Given the description of an element on the screen output the (x, y) to click on. 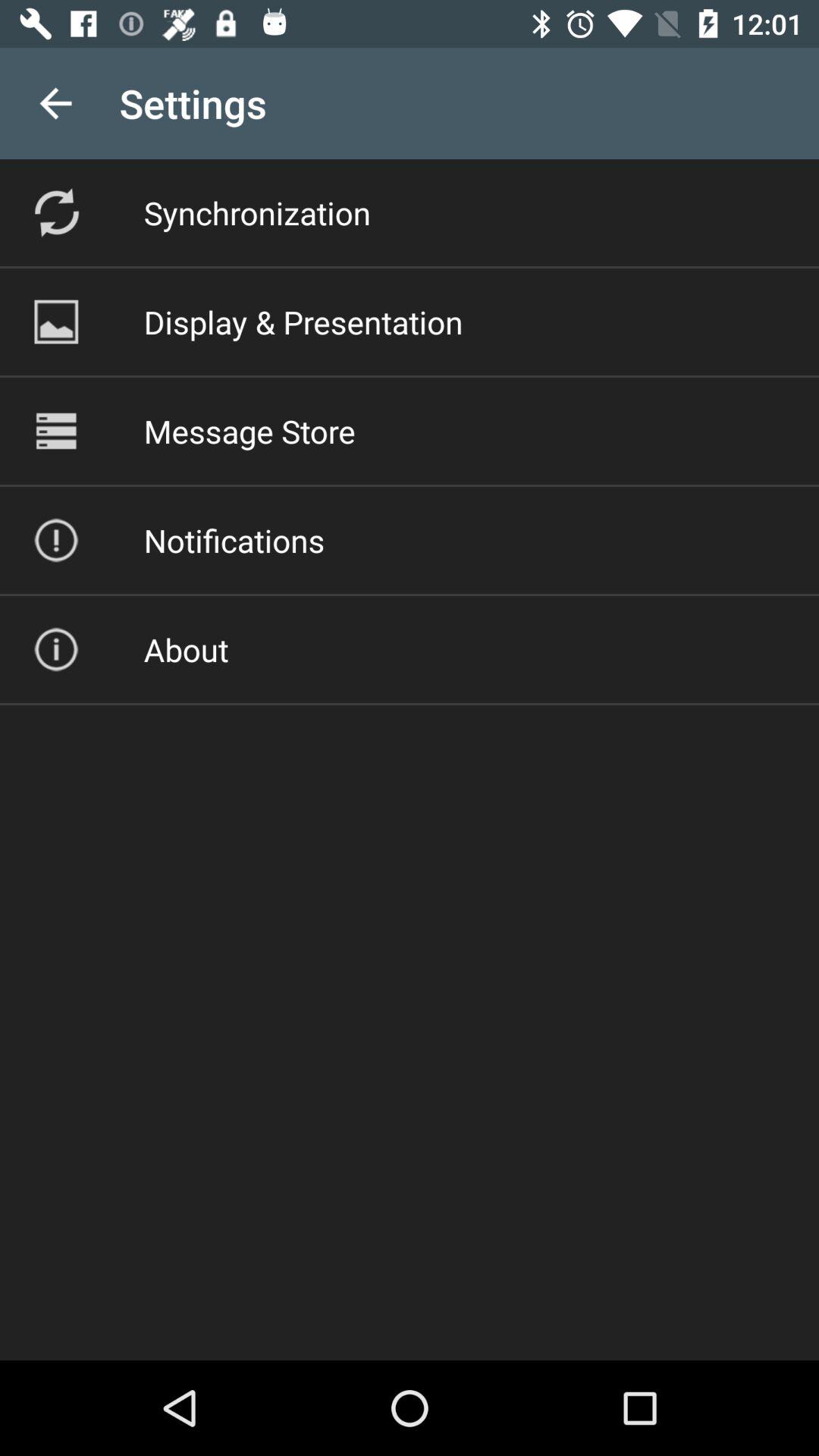
swipe until about icon (185, 649)
